Given the description of an element on the screen output the (x, y) to click on. 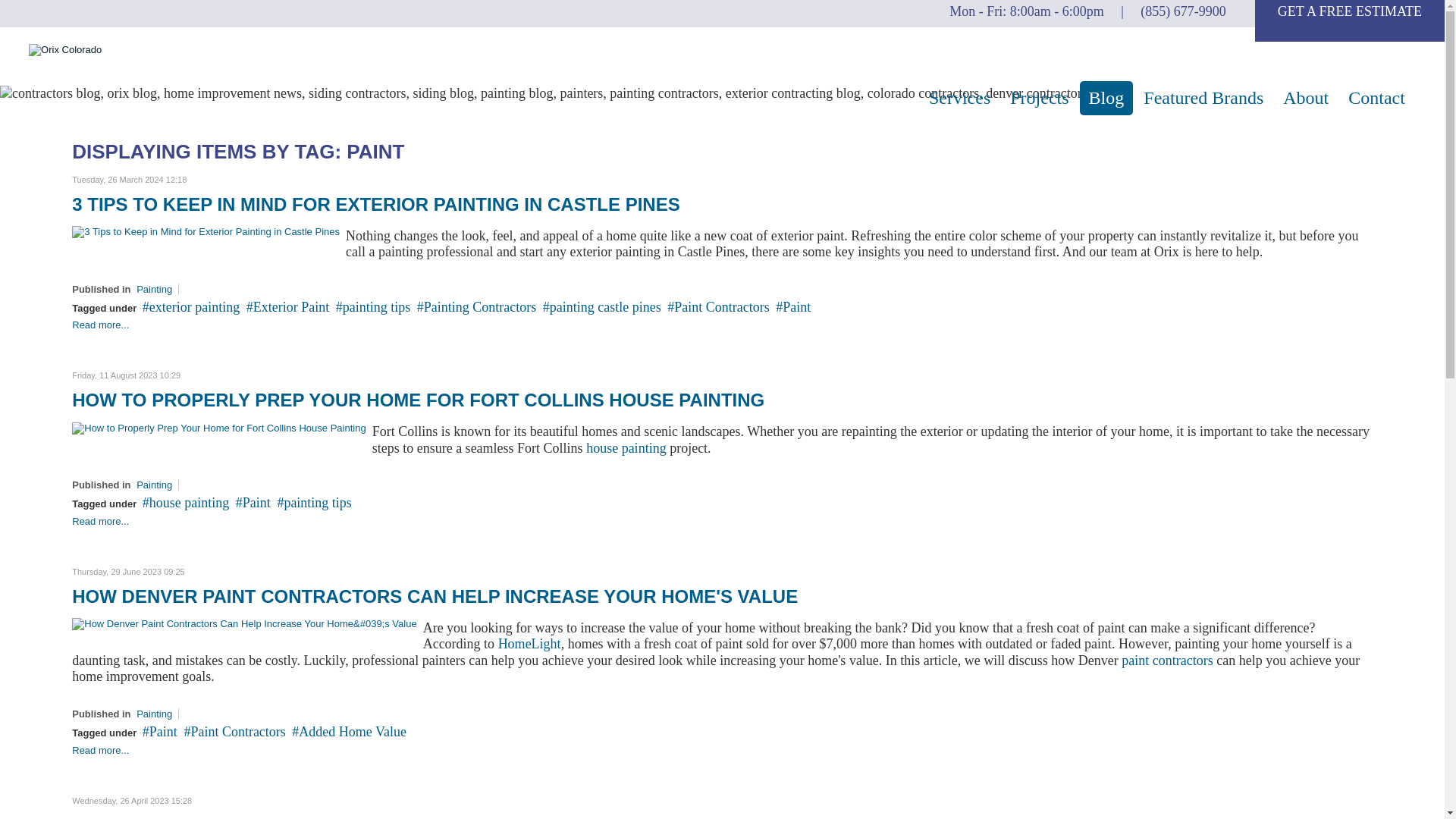
Featured Brands (1203, 98)
exterior painting (191, 306)
3 TIPS TO KEEP IN MIND FOR EXTERIOR PAINTING IN CASTLE PINES (375, 204)
Paint (793, 306)
Exterior Paint (1166, 660)
Exterior Paint (287, 306)
Blog (1107, 98)
Read more... (100, 324)
